Given the description of an element on the screen output the (x, y) to click on. 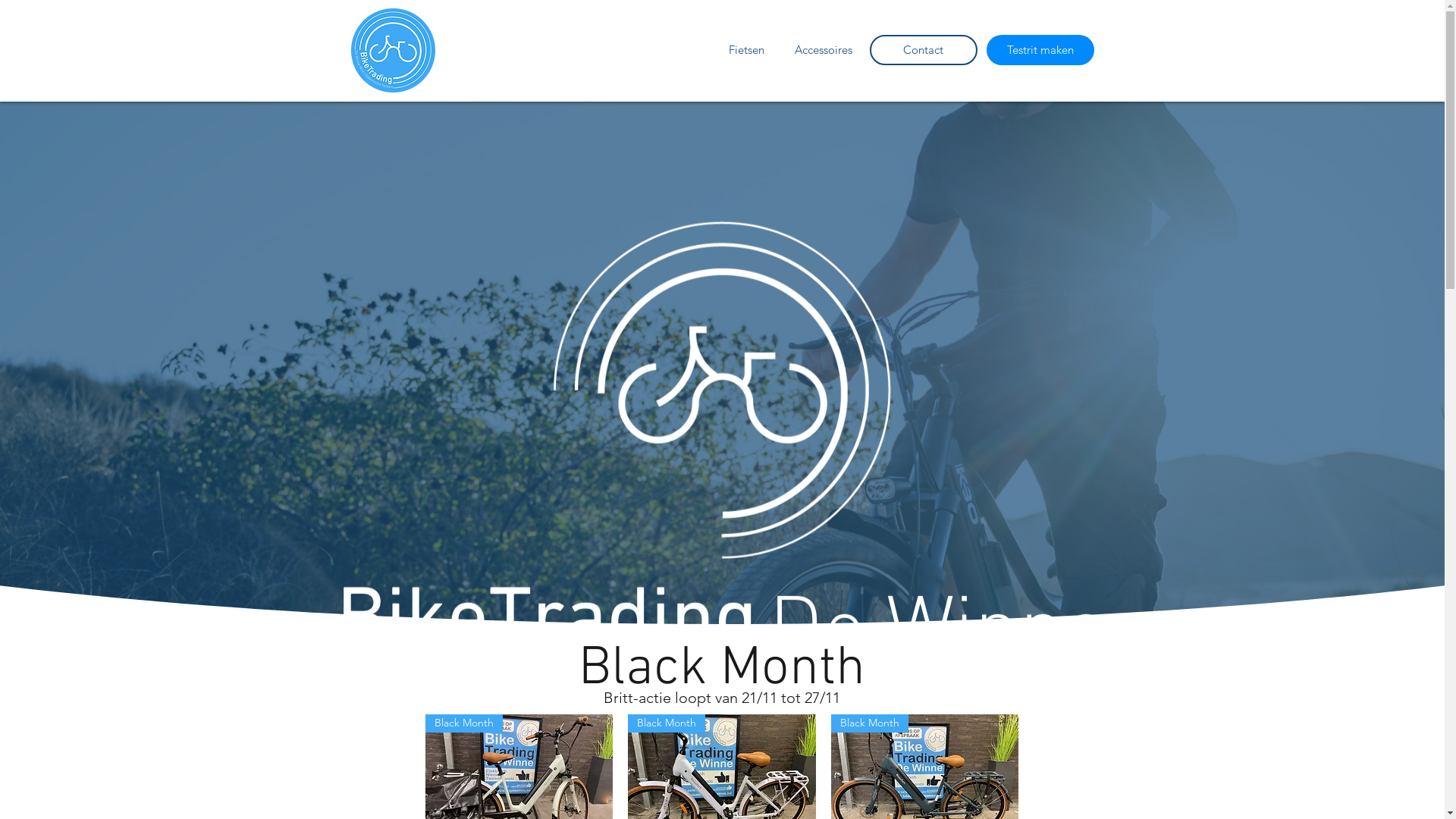
Contact Element type: text (922, 49)
Testrit maken Element type: text (1039, 49)
Accessoires Element type: text (823, 49)
Fietsen Element type: text (746, 49)
